Given the description of an element on the screen output the (x, y) to click on. 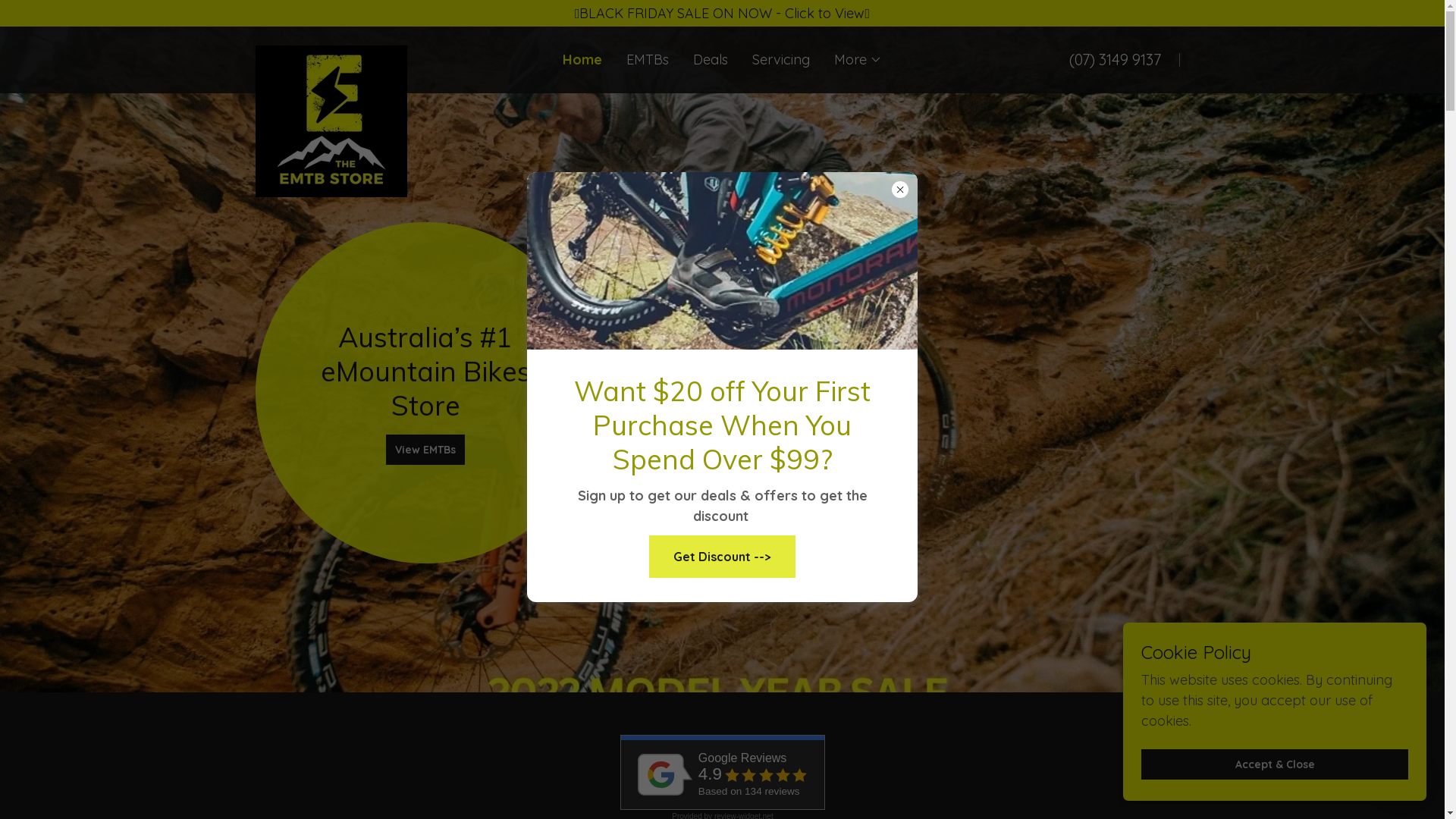
EMTBs Element type: text (647, 59)
Get Discount --> Element type: text (722, 556)
More Element type: text (857, 59)
Deals Element type: text (710, 59)
(07) 3149 9137 Element type: text (1115, 59)
Accept & Close Element type: text (1274, 764)
Servicing Element type: text (780, 59)
Home Element type: text (582, 59)
View EMTBs Element type: text (424, 449)
